Given the description of an element on the screen output the (x, y) to click on. 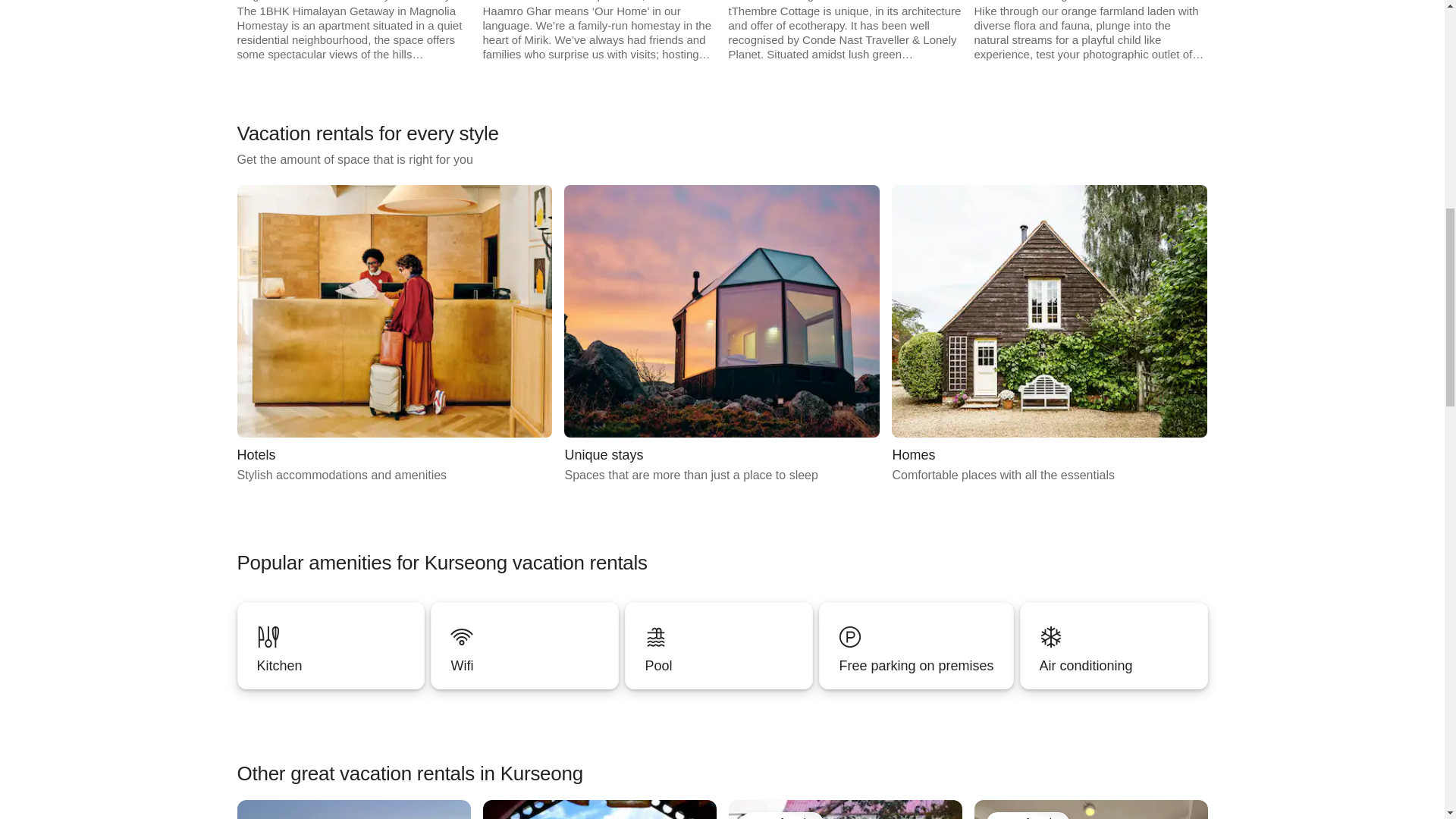
Pool (1049, 334)
Free parking on premises (718, 645)
Wifi (915, 645)
Kitchen (524, 645)
Kitchen (330, 645)
Air conditioning (330, 645)
Wifi (1114, 645)
Air conditioning (721, 334)
Kitchen (524, 645)
Air conditioning (1114, 645)
Free parking on premises (330, 665)
Pool (1113, 665)
Free parking on premises (915, 645)
